Given the description of an element on the screen output the (x, y) to click on. 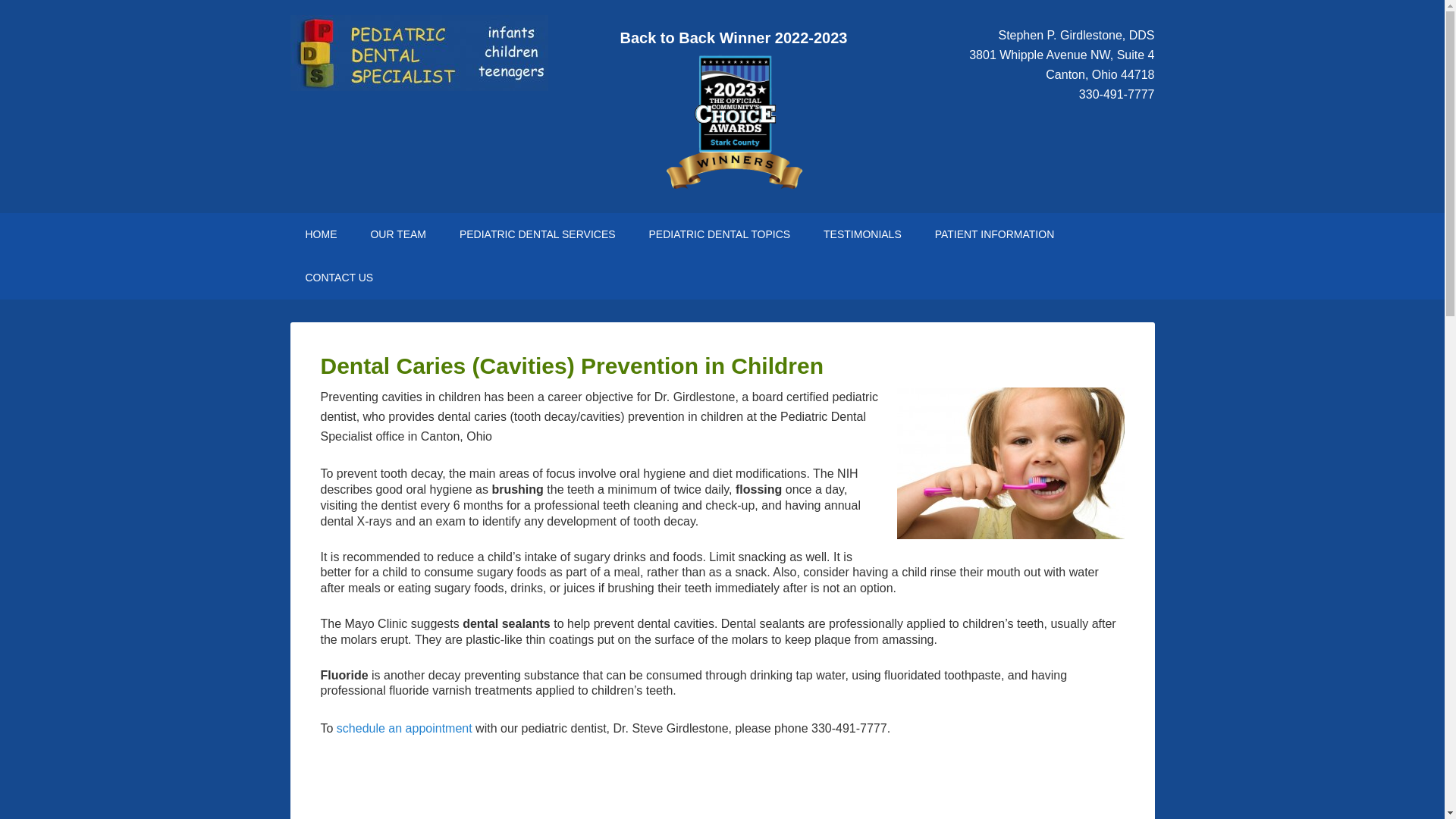
HOME (320, 234)
TESTIMONIALS (862, 234)
OUR TEAM (398, 234)
schedule an appointment (403, 727)
PATIENT INFORMATION (995, 234)
PEDIATRIC DENTAL SPECIALIST (418, 52)
Stephen P Girdlestone DDS (320, 234)
PEDIATRIC DENTAL SERVICES (537, 234)
PEDIATRIC DENTAL TOPICS (719, 234)
CONTACT US (338, 277)
